Given the description of an element on the screen output the (x, y) to click on. 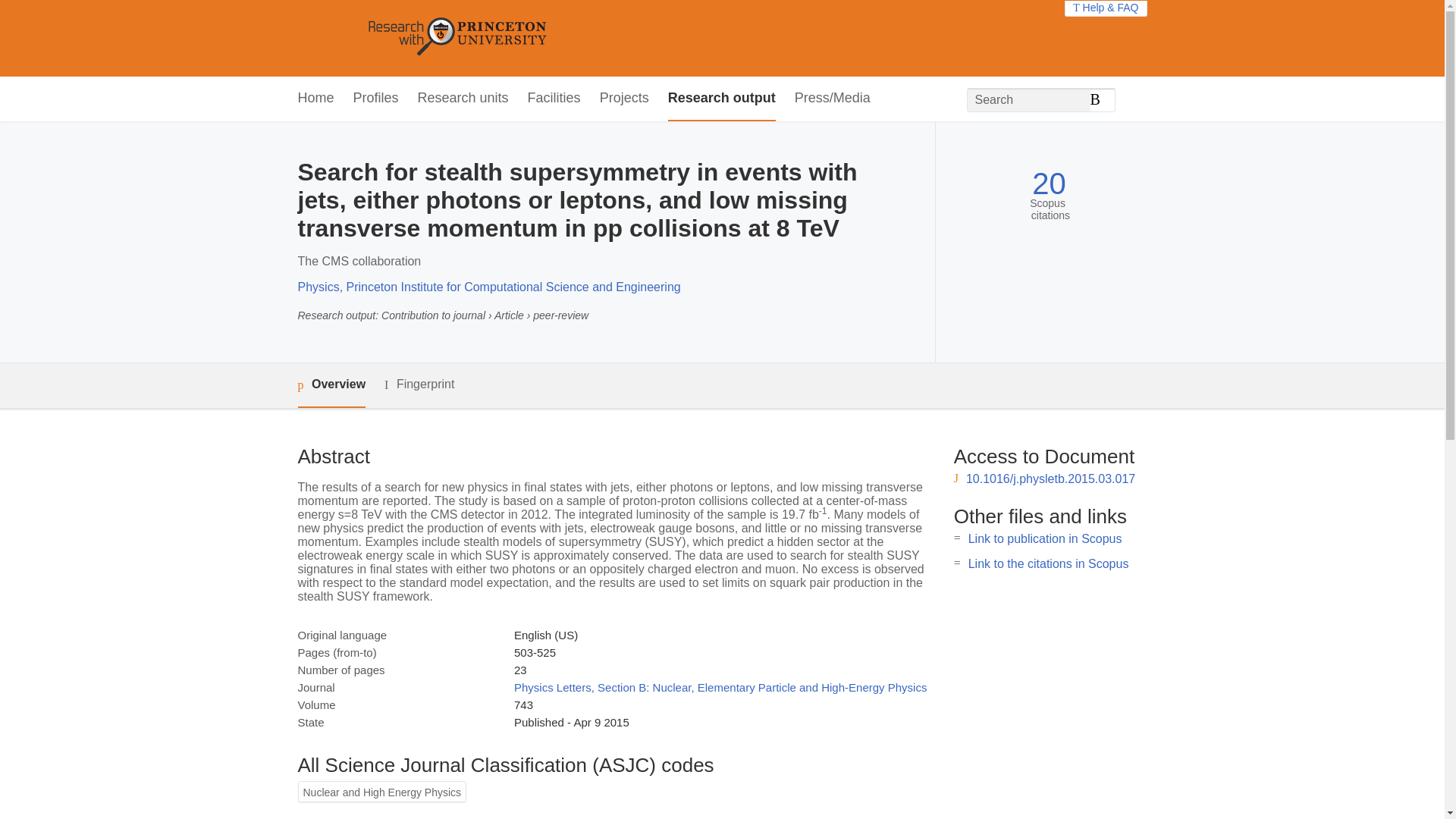
Princeton University Home (567, 38)
Projects (624, 98)
20 (1048, 183)
Profiles (375, 98)
Research output (722, 98)
Research units (462, 98)
Facilities (553, 98)
Link to publication in Scopus (1045, 538)
Link to the citations in Scopus (1048, 563)
Physics (318, 286)
Fingerprint (419, 384)
Overview (331, 385)
